Given the description of an element on the screen output the (x, y) to click on. 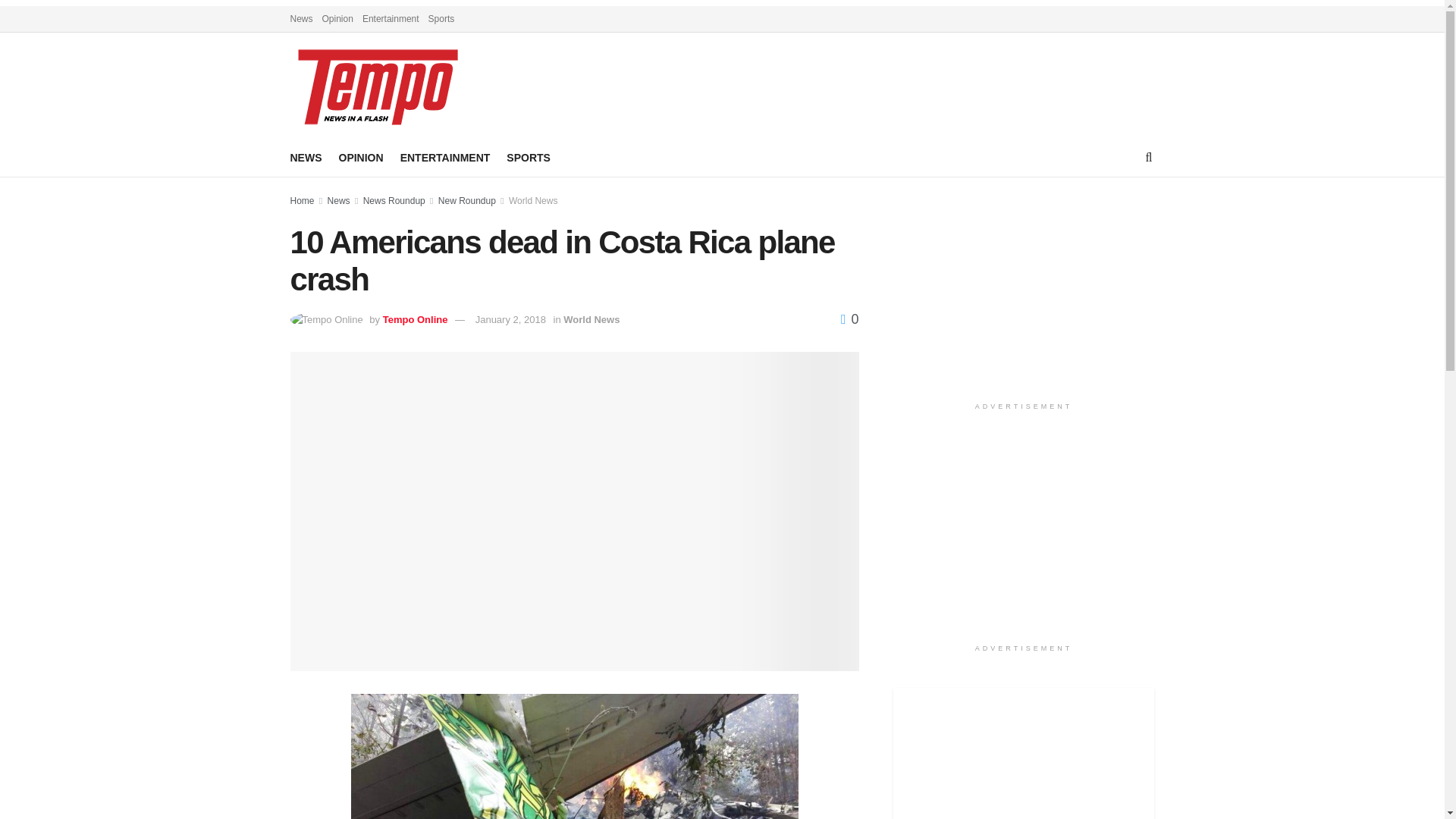
Sports (441, 18)
NEWS (305, 157)
January 2, 2018 (511, 319)
World News (532, 200)
News Roundup (393, 200)
News (338, 200)
ENTERTAINMENT (445, 157)
0 (850, 319)
SPORTS (528, 157)
Tempo Online (415, 319)
